Given the description of an element on the screen output the (x, y) to click on. 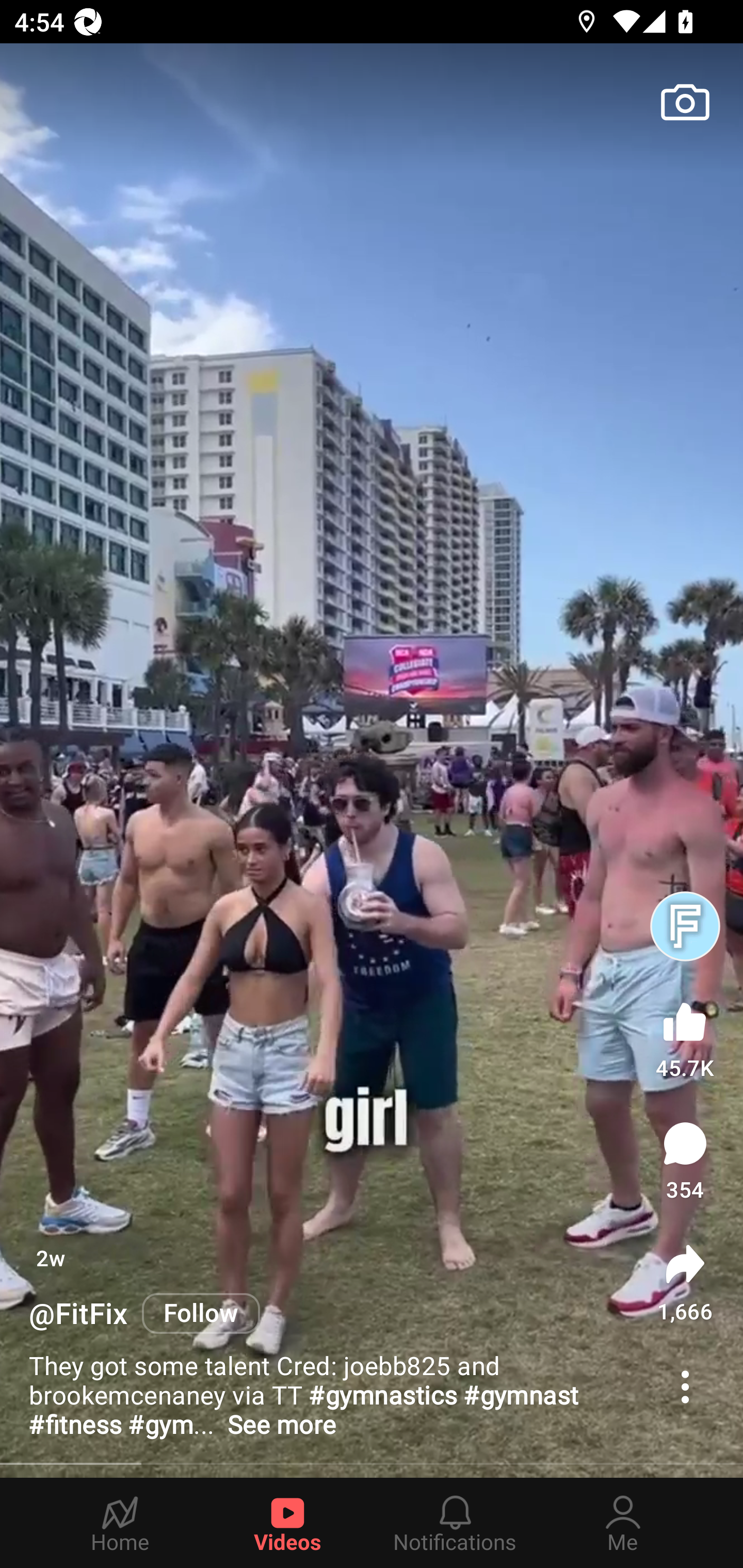
45.7K (684, 1035)
354 (684, 1160)
1,666 (685, 1282)
Follow (200, 1313)
@FitFix (77, 1313)
Home (119, 1522)
Notifications (455, 1522)
Me (622, 1522)
